Given the description of an element on the screen output the (x, y) to click on. 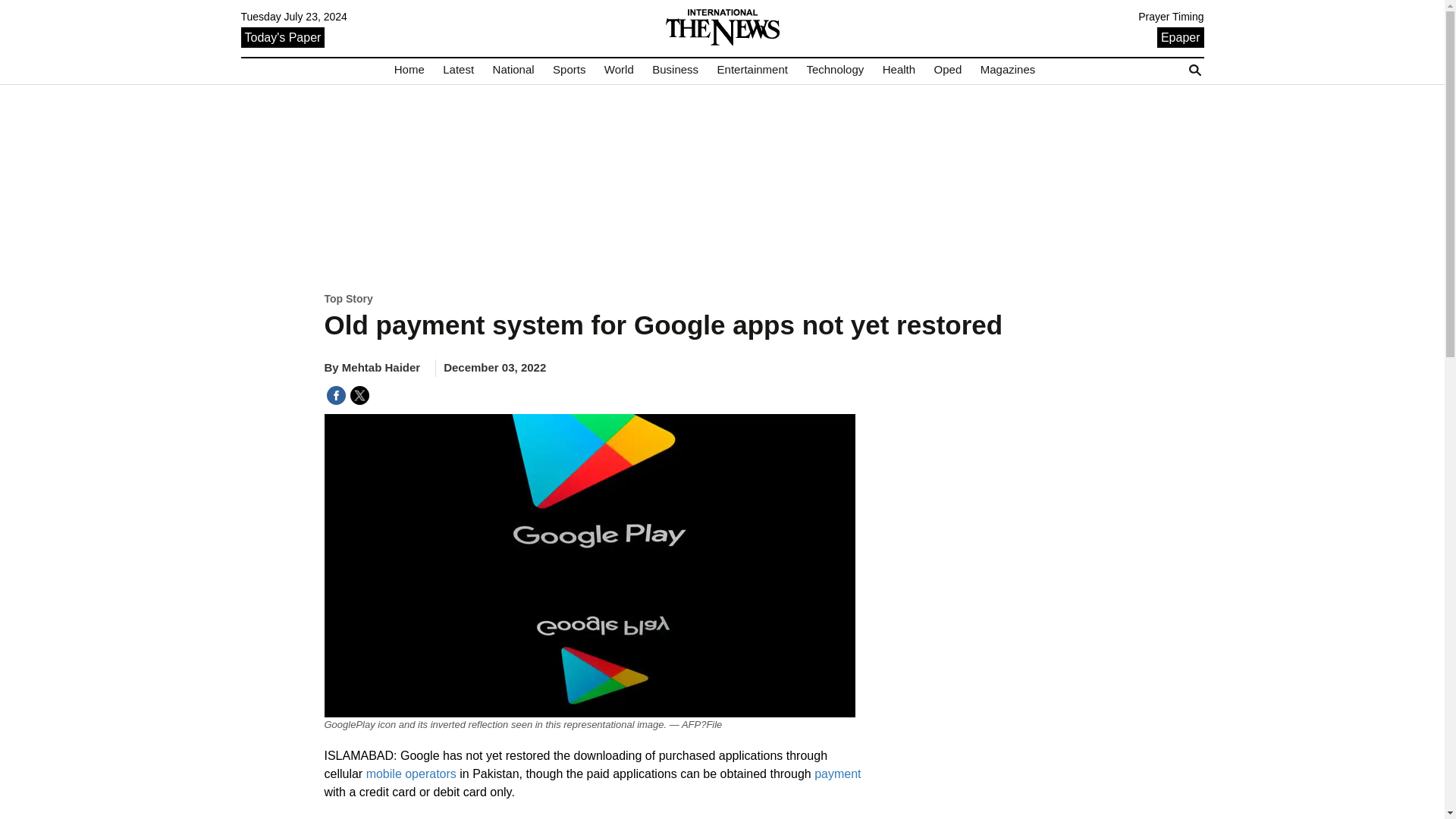
Sports (568, 69)
Home (409, 69)
Today's Paper (282, 37)
Entertainment (752, 69)
Latest (458, 69)
Technology (833, 69)
World (619, 69)
Prayer Timing (1171, 16)
Business (675, 69)
3rd party ad content (721, 186)
Health (899, 69)
Epaper (1180, 37)
National (512, 69)
